Given the description of an element on the screen output the (x, y) to click on. 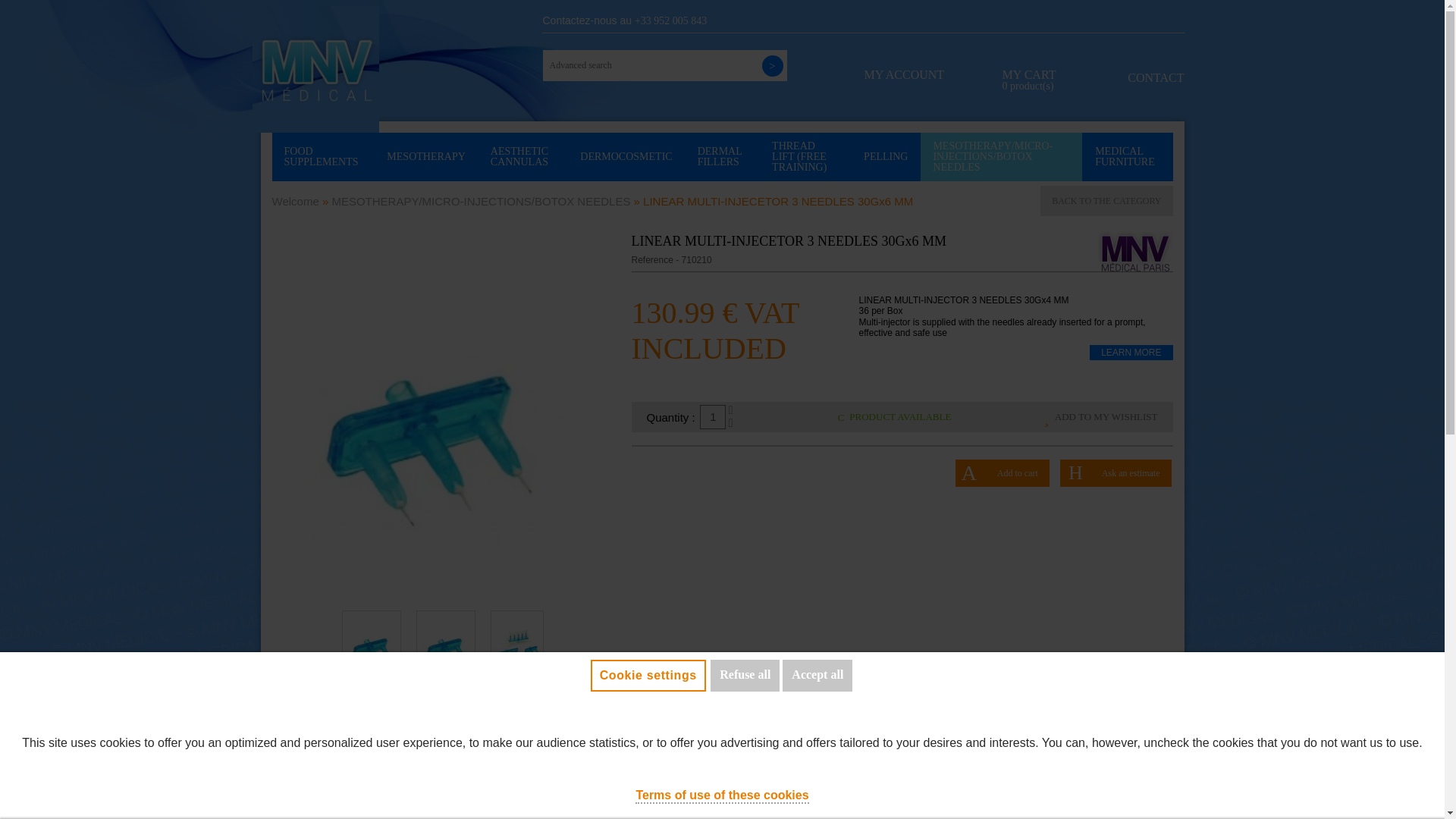
MY ACCOUNT (904, 84)
MNV MEDICAL (1130, 250)
CONTACT (1134, 77)
MESOTHERAPY (425, 156)
logo-MNV MEDICAL (314, 68)
AESTHETIC CANNULAS (523, 156)
Add to my wishlist (1100, 417)
Welcome (294, 200)
DERMOCOSMETIC (625, 156)
1 (712, 416)
MY CART (1030, 85)
FOOD SUPPLEMENTS (322, 156)
